Given the description of an element on the screen output the (x, y) to click on. 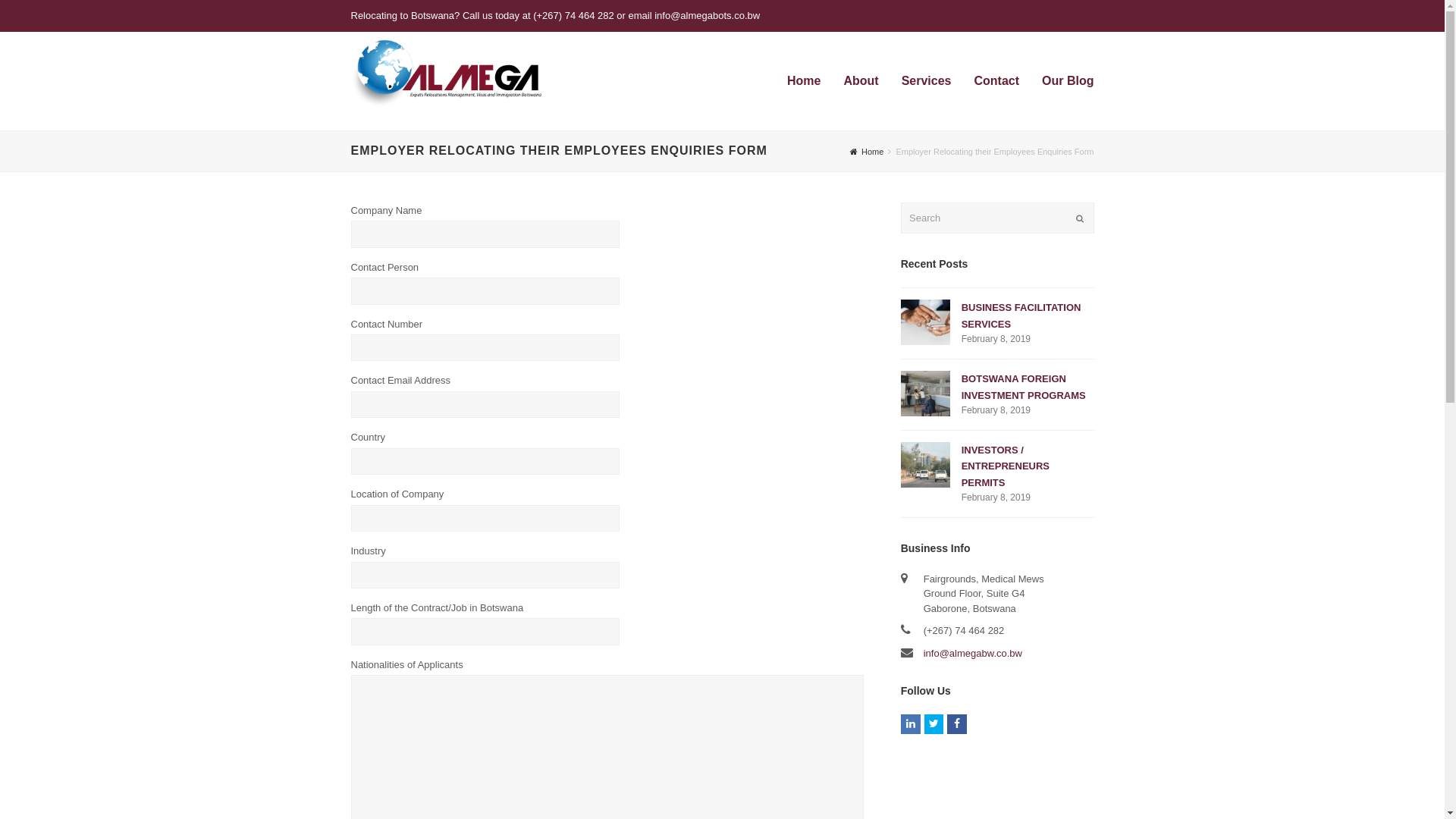
INVESTORS / ENTREPRENEURS PERMITS Element type: hover (925, 464)
Services Element type: text (926, 81)
Submit Element type: text (1078, 217)
Home Element type: text (866, 151)
BUSINESS FACILITATION SERVICES Element type: hover (925, 322)
About Element type: text (860, 81)
BOTSWANA FOREIGN INVESTMENT PROGRAMS Element type: hover (925, 393)
BUSINESS FACILITATION SERVICES Element type: text (1021, 315)
Home Element type: text (803, 81)
LinkedIn Element type: text (910, 724)
Facebook Element type: text (956, 724)
info@almegabw.co.bw Element type: text (972, 652)
BOTSWANA FOREIGN INVESTMENT PROGRAMS Element type: text (1023, 386)
INVESTORS / ENTREPRENEURS PERMITS Element type: text (1005, 466)
Contact Element type: text (997, 81)
Our Blog Element type: text (1067, 81)
Twitter Element type: text (934, 724)
